Given the description of an element on the screen output the (x, y) to click on. 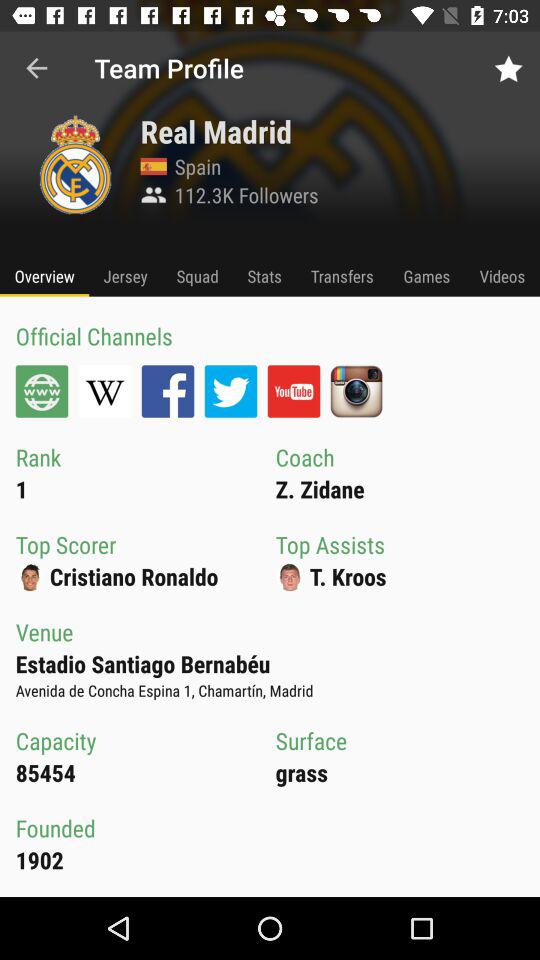
twitter sharing option (230, 391)
